Given the description of an element on the screen output the (x, y) to click on. 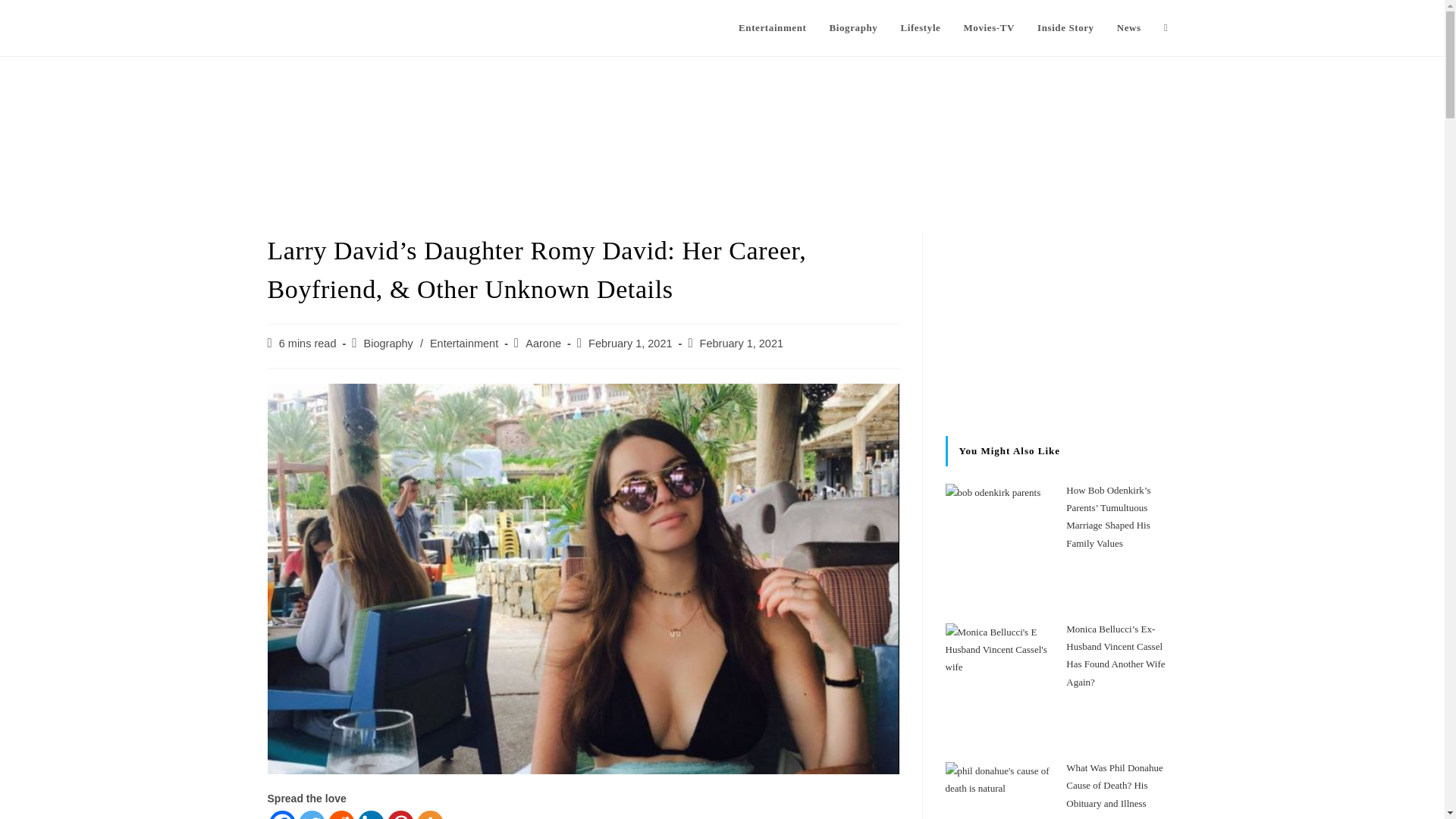
Entertainment (771, 28)
Inside Story (1065, 28)
Entertainment (463, 343)
Movies-TV (989, 28)
Biography (388, 343)
CelebSuburb (317, 26)
Reddit (340, 814)
Linkedin (371, 814)
Pinterest (400, 814)
More (430, 814)
